Given the description of an element on the screen output the (x, y) to click on. 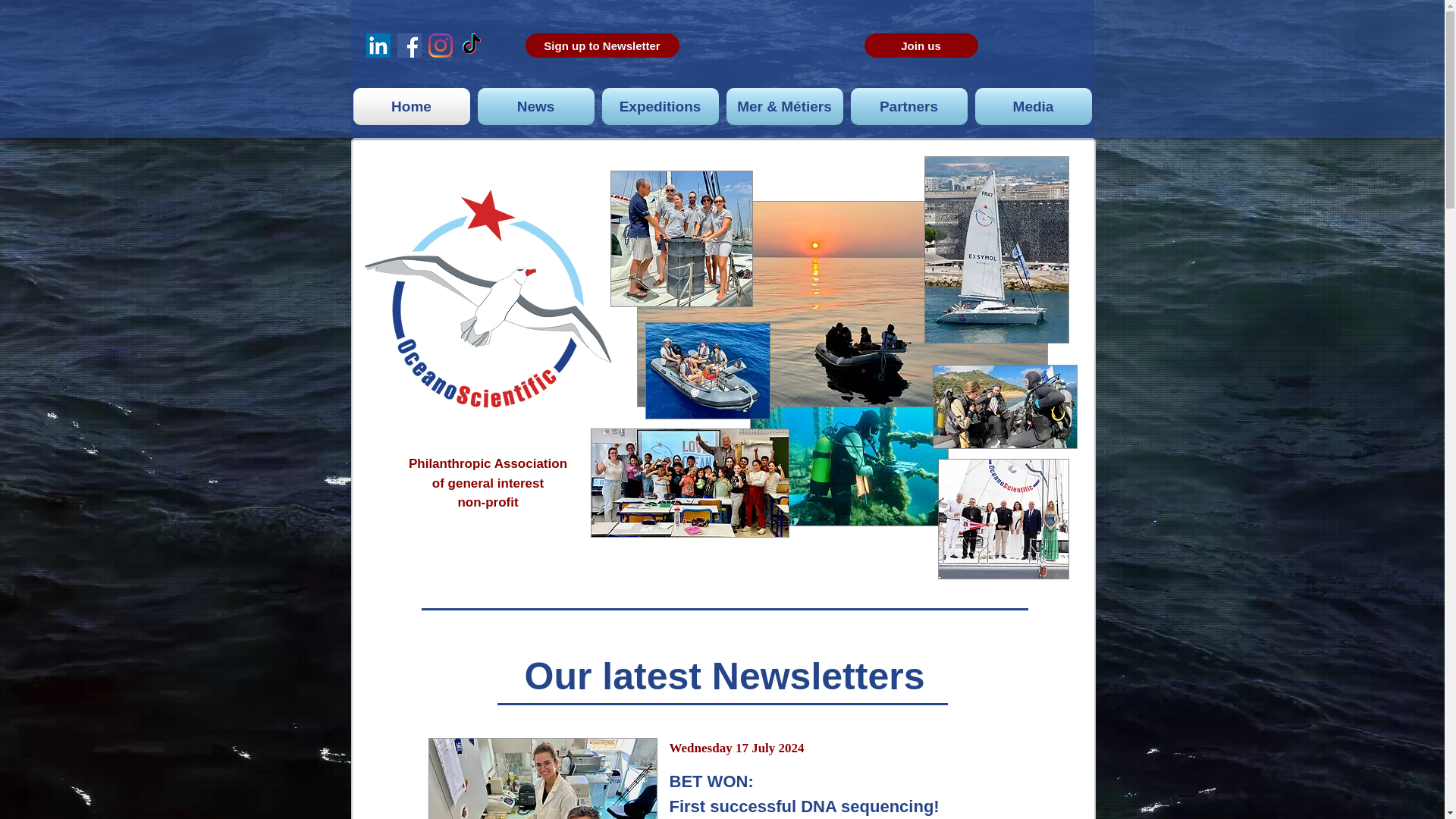
Sign up to Newsletter (601, 45)
Partners (908, 106)
Join us (921, 45)
Expeditions (659, 106)
News (534, 106)
Home (411, 106)
